Given the description of an element on the screen output the (x, y) to click on. 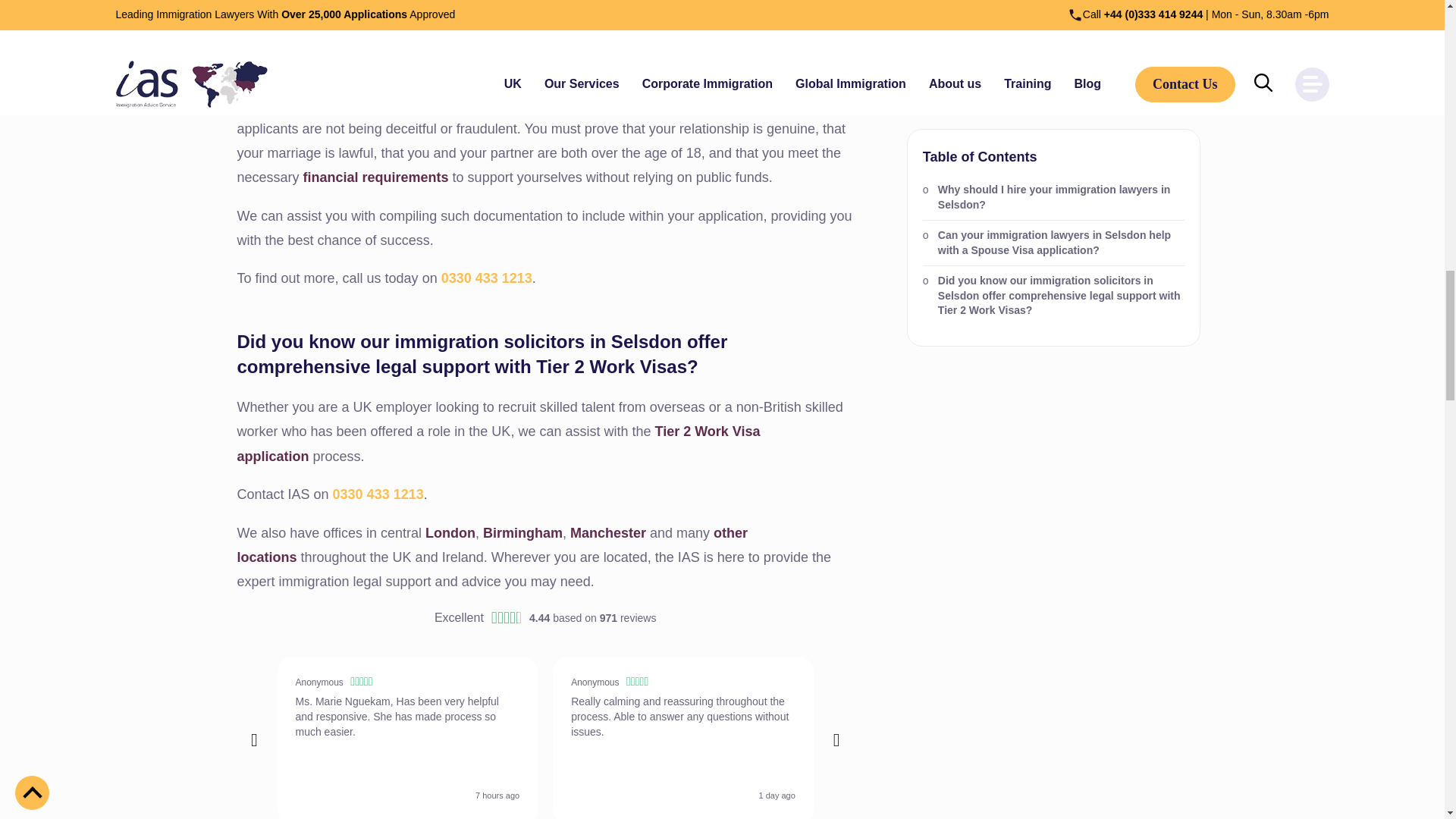
4.44 Stars (506, 619)
5 Stars (362, 683)
5 Stars (892, 683)
5 Stars (1164, 683)
5 Stars (639, 683)
